Given the description of an element on the screen output the (x, y) to click on. 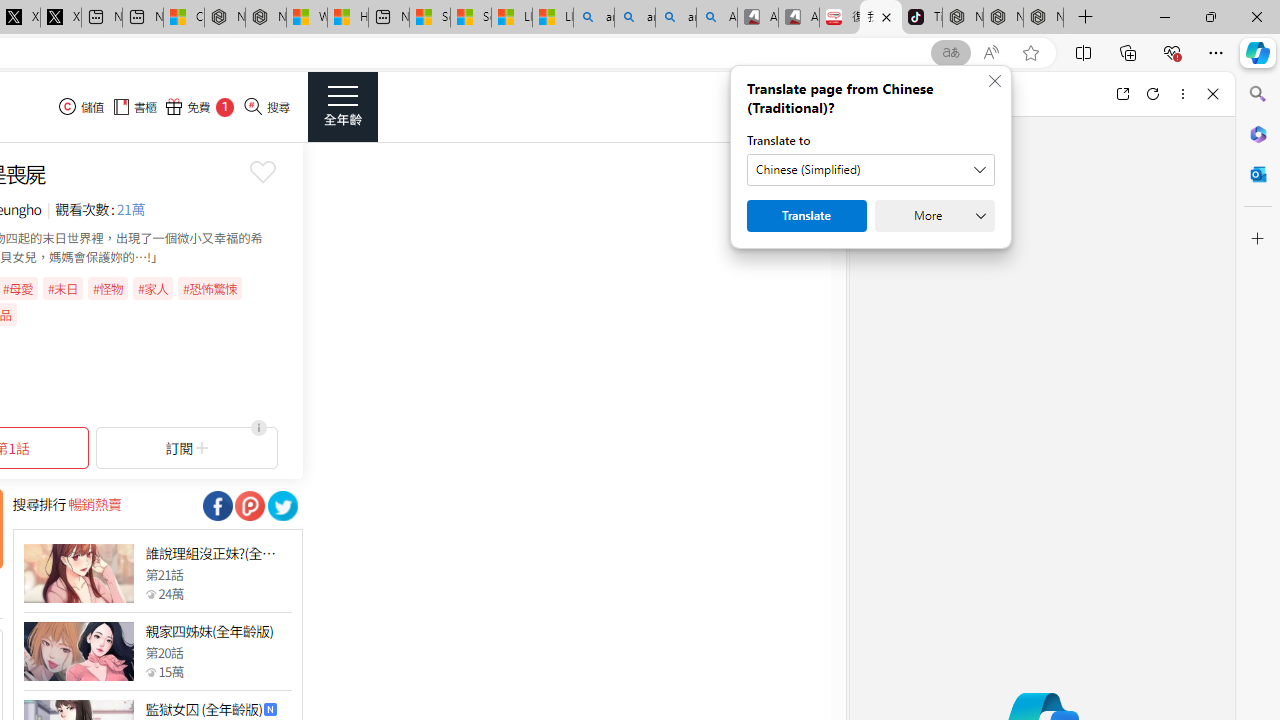
TikTok (922, 17)
Nordace - Siena Pro 15 Essential Set (1043, 17)
Outlook (1258, 174)
Compose (971, 93)
Chat (884, 93)
Amazon Echo Robot - Search Images (717, 17)
